Given the description of an element on the screen output the (x, y) to click on. 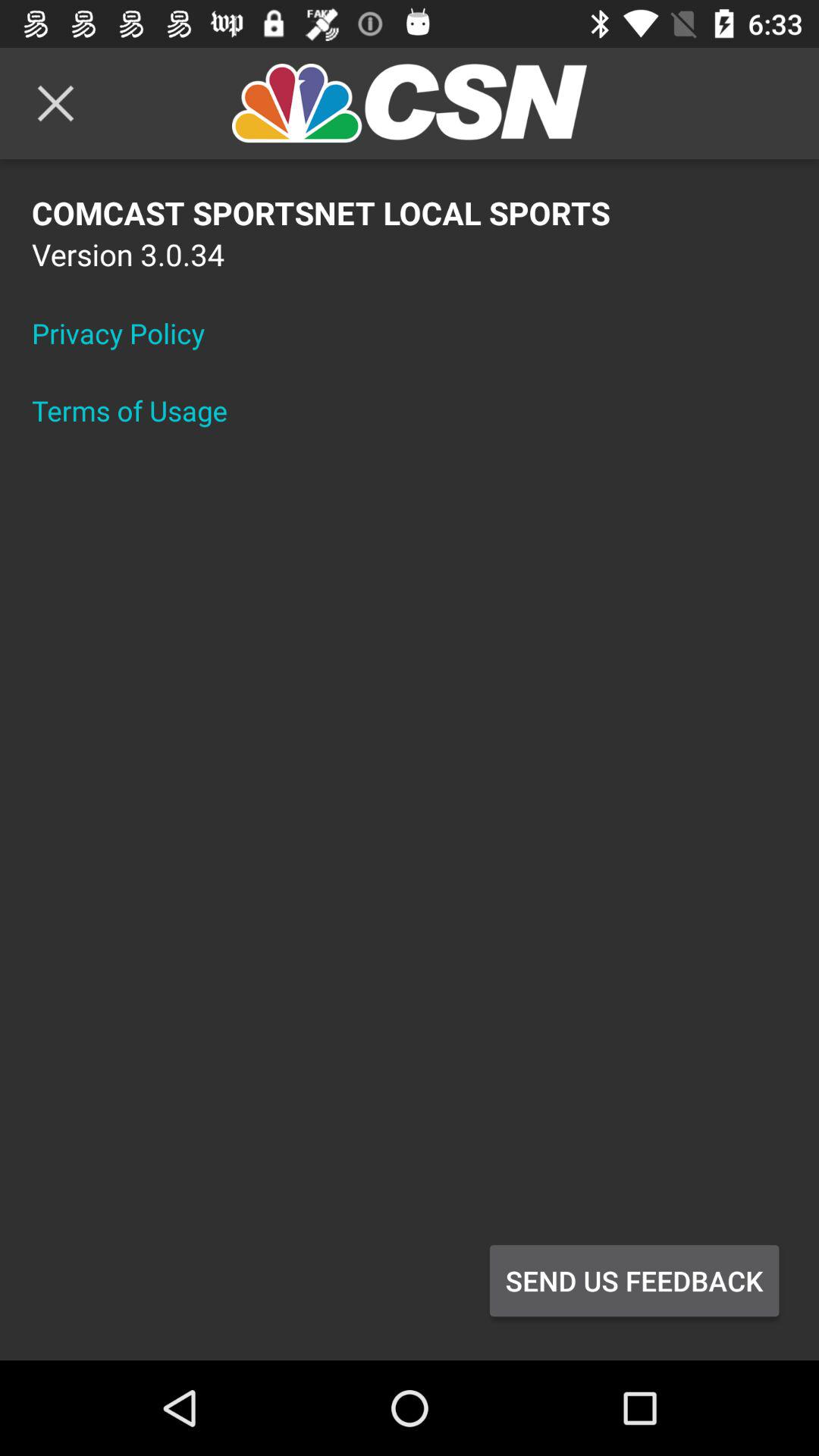
turn off privacy policy item (127, 332)
